Given the description of an element on the screen output the (x, y) to click on. 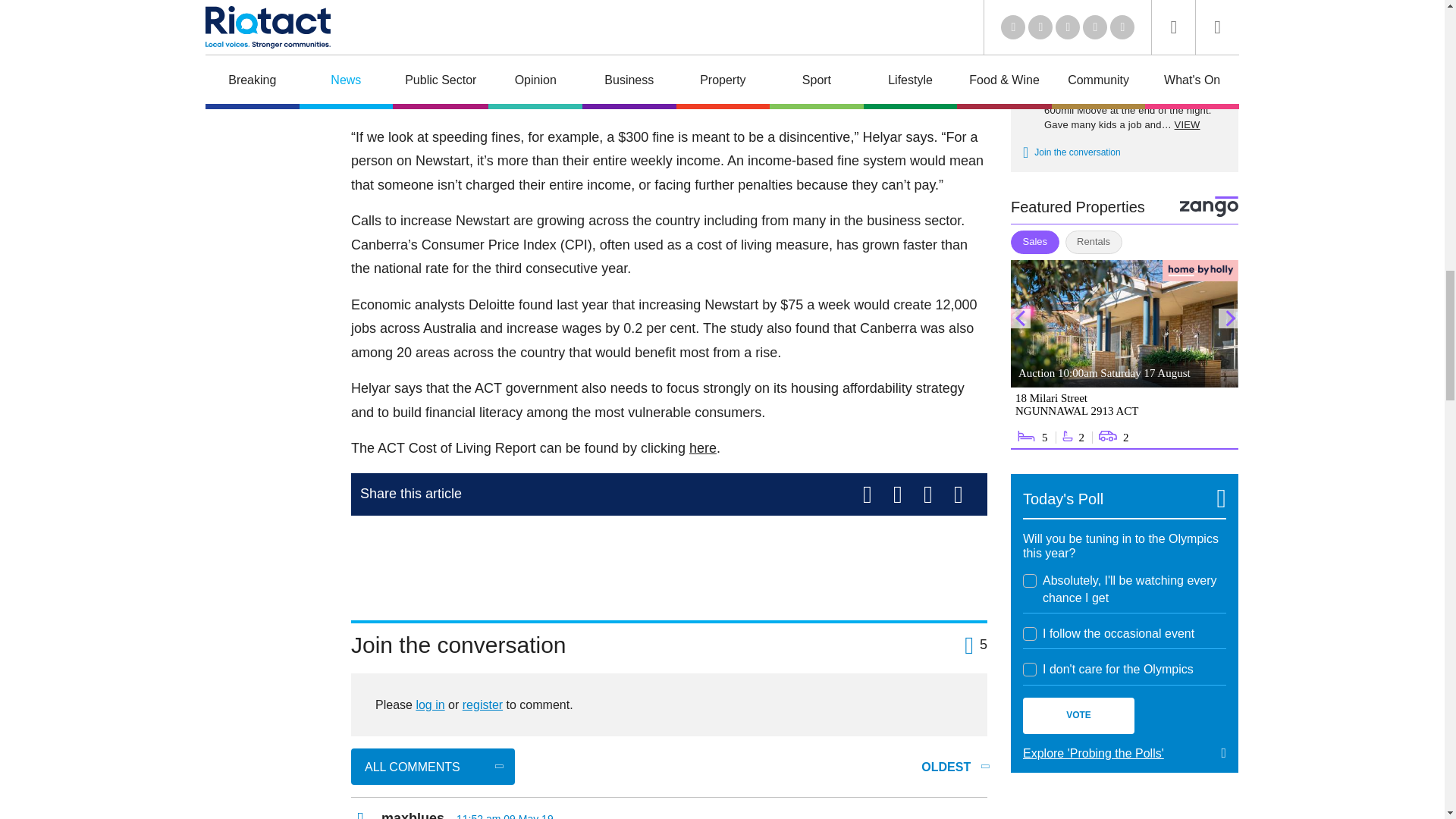
2045 (1029, 669)
2043 (1029, 581)
   Vote    (1078, 715)
3rd party ad content (1124, 807)
Zango Sales (1124, 354)
2044 (1029, 633)
3rd party ad content (668, 561)
Zango (1209, 206)
